Given the description of an element on the screen output the (x, y) to click on. 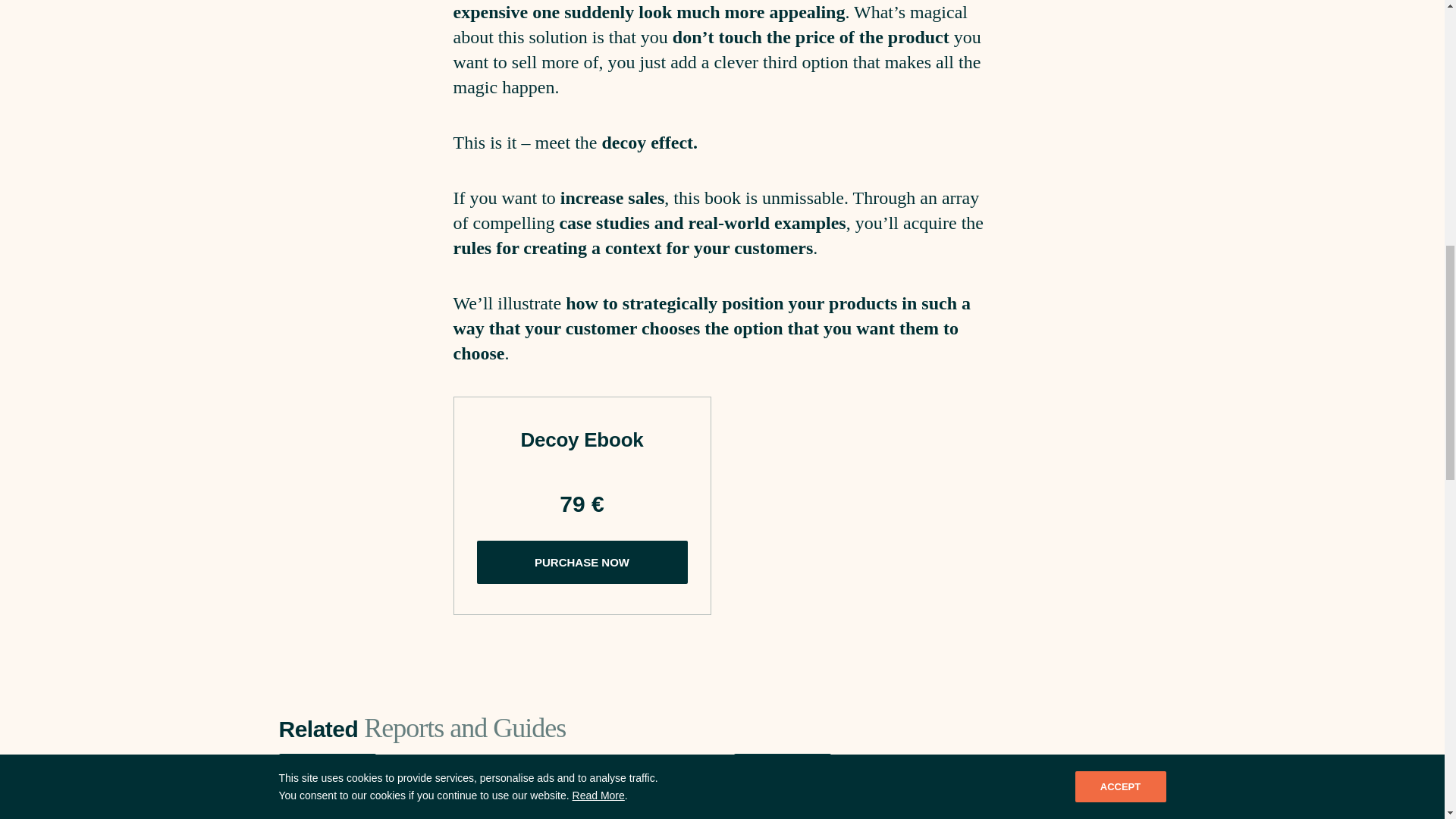
Friction: What Psychology Tells Us About Making Things Easy (1009, 803)
PURCHASE NOW (581, 561)
